Given the description of an element on the screen output the (x, y) to click on. 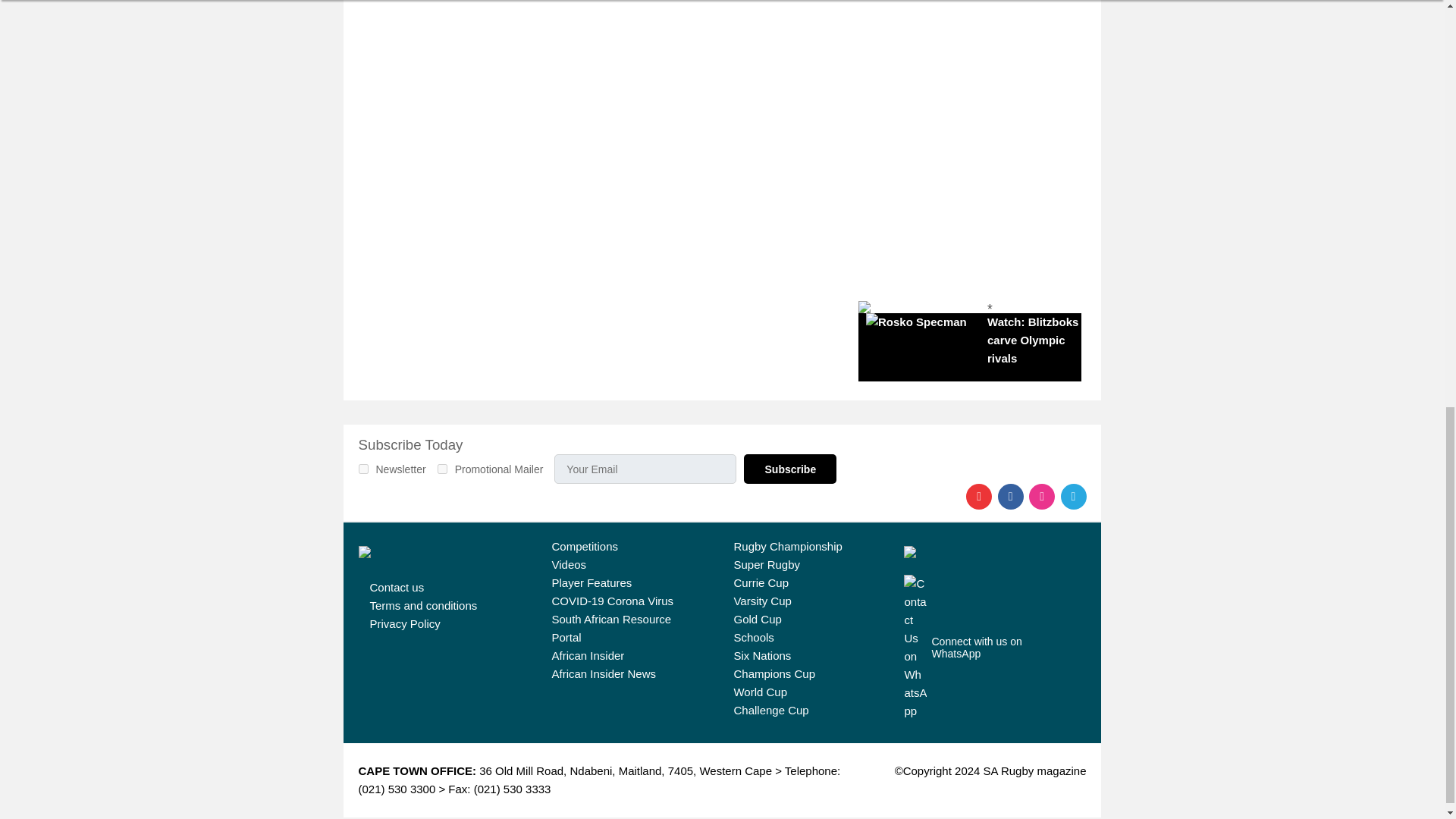
19011 (442, 469)
18751 (363, 469)
Subscribe (789, 469)
